Given the description of an element on the screen output the (x, y) to click on. 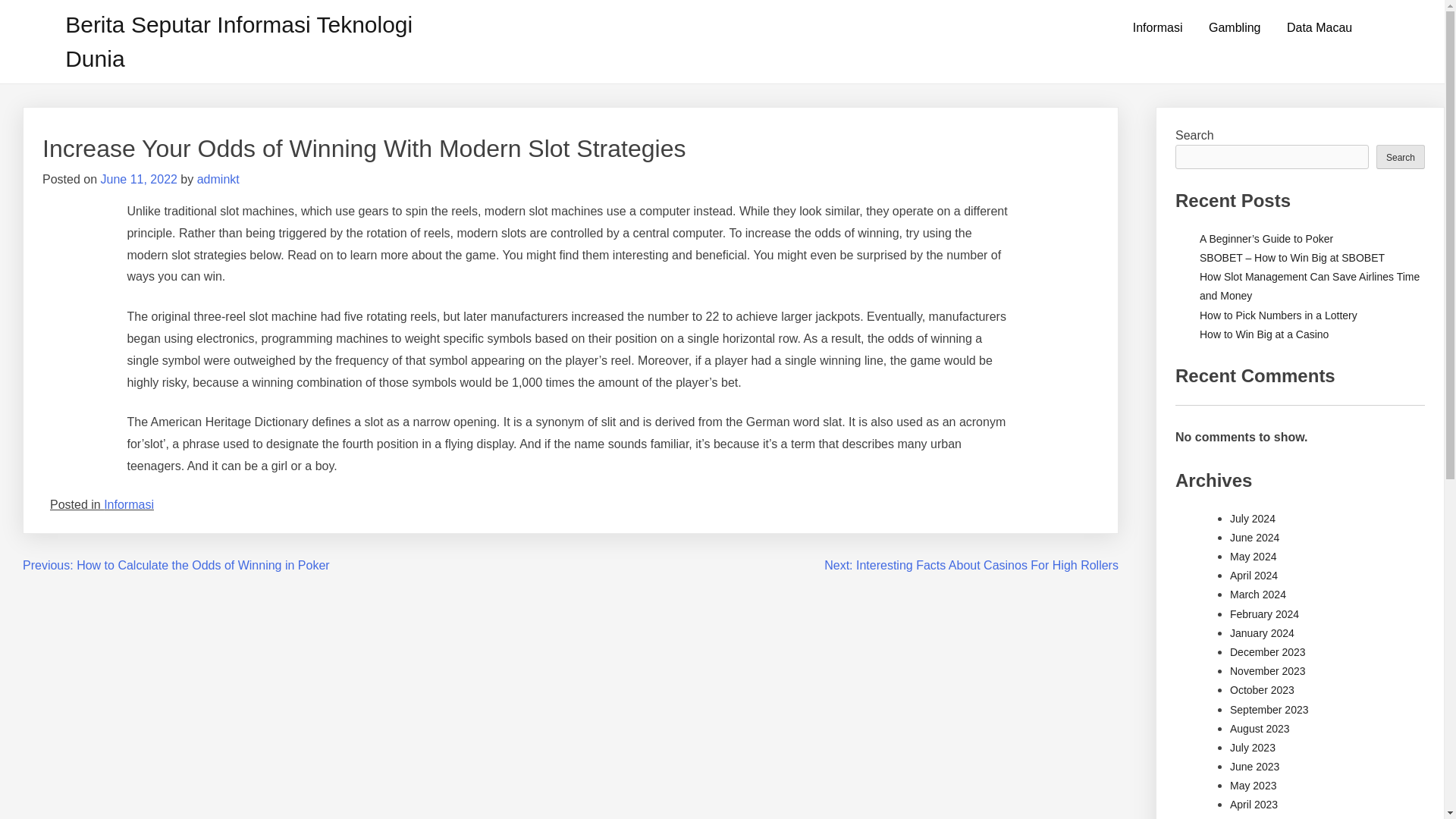
Gambling (1233, 28)
July 2024 (1252, 518)
July 2023 (1252, 747)
adminkt (218, 178)
How Slot Management Can Save Airlines Time and Money (1309, 286)
May 2024 (1253, 556)
September 2023 (1269, 709)
How to Win Big at a Casino (1263, 334)
Search (1400, 156)
November 2023 (1268, 671)
May 2023 (1253, 785)
October 2023 (1262, 689)
March 2023 (1257, 818)
Previous: How to Calculate the Odds of Winning in Poker (176, 564)
Informasi (1157, 28)
